Given the description of an element on the screen output the (x, y) to click on. 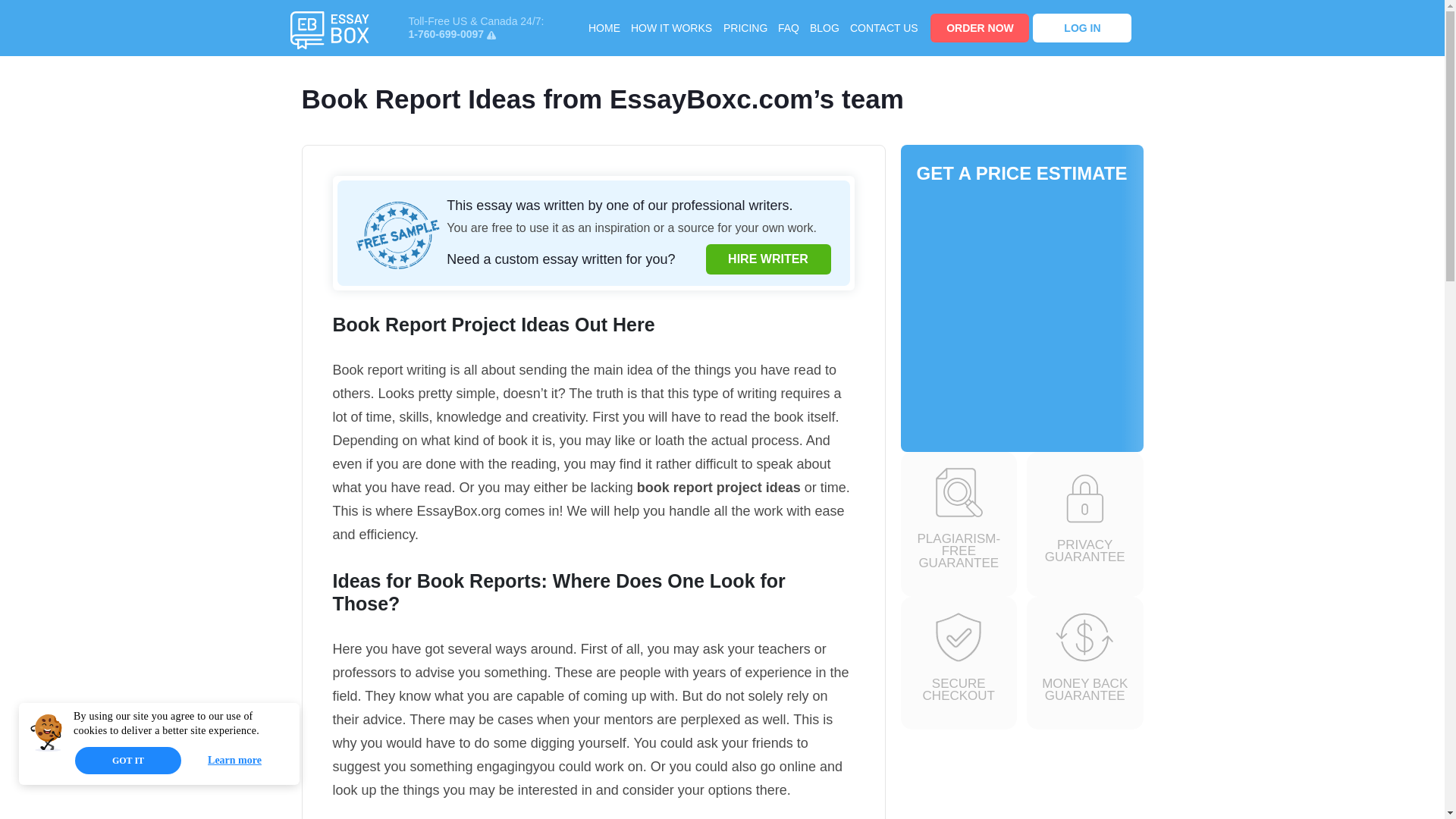
CONTACT US (884, 27)
HIRE WRITER (766, 259)
PRICING (745, 27)
BLOG (824, 27)
HOW IT WORKS (670, 27)
Help Me Write My Essay (328, 30)
ORDER NOW (979, 27)
FAQ (788, 27)
HOME (604, 27)
